Given the description of an element on the screen output the (x, y) to click on. 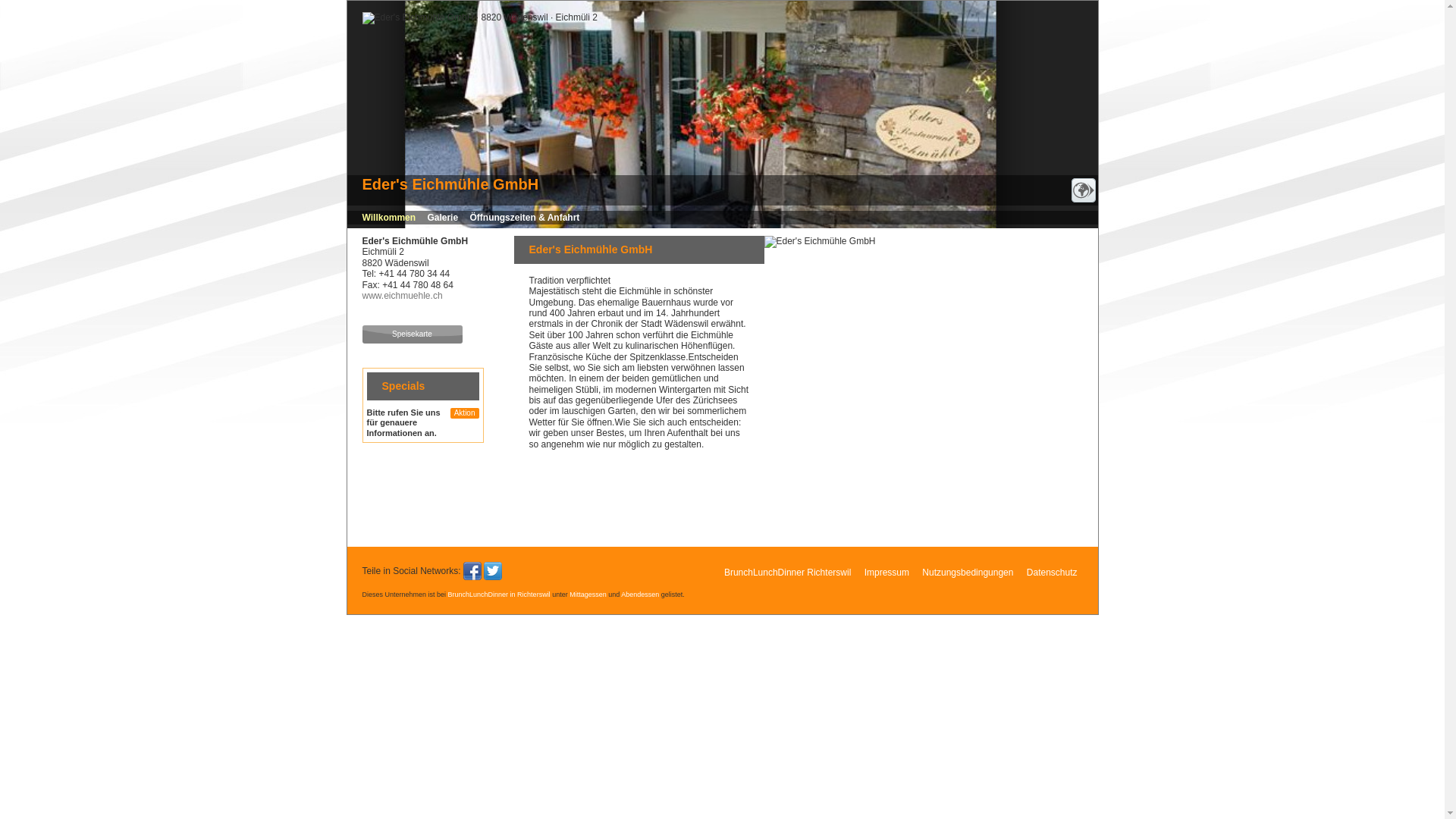
Datenschutz Element type: text (1051, 572)
Speisekarte Element type: text (412, 334)
BrunchLunchDinner Richterswil Element type: text (787, 572)
Abendessen Element type: text (639, 594)
Mittagessen Element type: text (587, 594)
Impressum Element type: text (886, 572)
Willkommen Element type: text (388, 217)
Galerie Element type: text (442, 217)
auf Facebook teilen Element type: hover (472, 570)
www.eichmuehle.ch Element type: text (402, 295)
Nutzungsbedingungen Element type: text (967, 572)
Homepage Element type: hover (1082, 199)
BrunchLunchDinner in Richterswil Element type: text (499, 594)
auf Twitter teilen Element type: hover (492, 570)
